Given the description of an element on the screen output the (x, y) to click on. 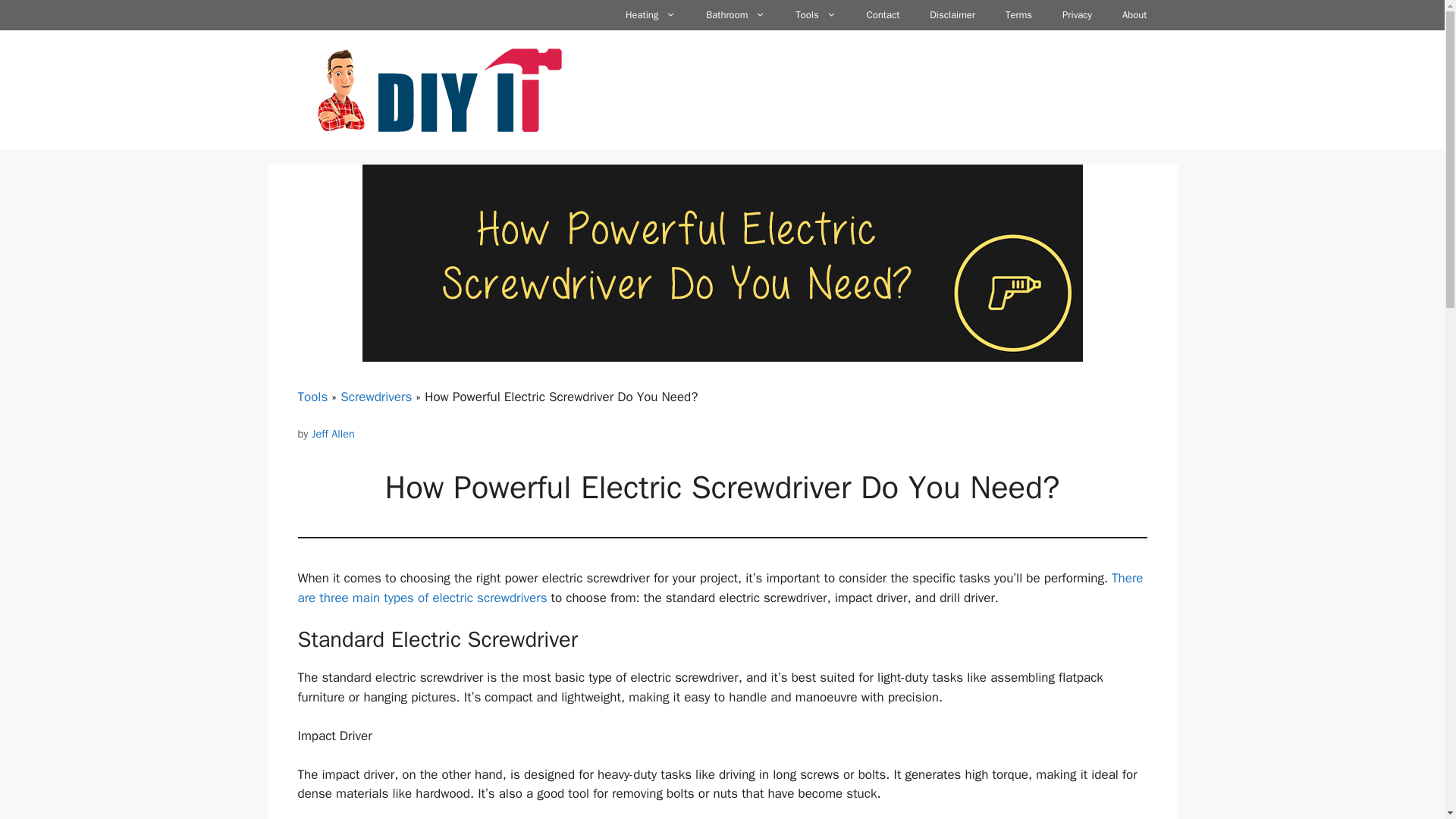
Tools (312, 396)
About (1133, 15)
View all posts by Jeff Allen (333, 433)
Privacy (1076, 15)
Tools (815, 15)
Bathroom (735, 15)
Screwdrivers (376, 396)
Disclaimer (952, 15)
Heating (650, 15)
Terms (1018, 15)
There are three main types of electric screwdrivers (719, 588)
Contact (883, 15)
Jeff Allen (333, 433)
